Given the description of an element on the screen output the (x, y) to click on. 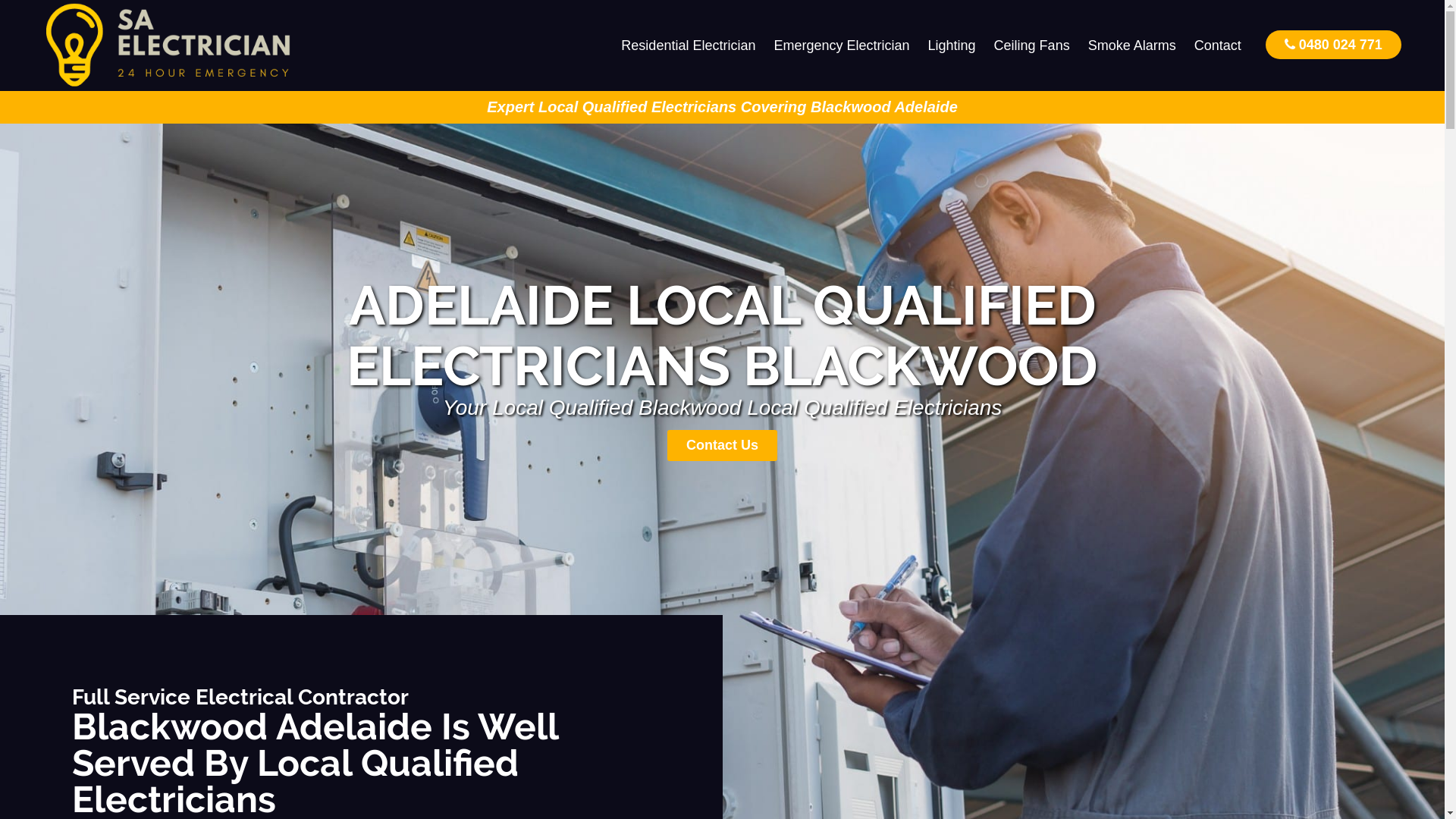
Lighting Element type: text (952, 45)
Emergency Electrician Element type: text (841, 45)
Residential Electrician Element type: text (687, 45)
Smoke Alarms Element type: text (1132, 45)
0480 024 771 Element type: text (1333, 44)
Contact Element type: text (1217, 45)
Ceiling Fans Element type: text (1032, 45)
Contact Us Element type: text (722, 445)
